Given the description of an element on the screen output the (x, y) to click on. 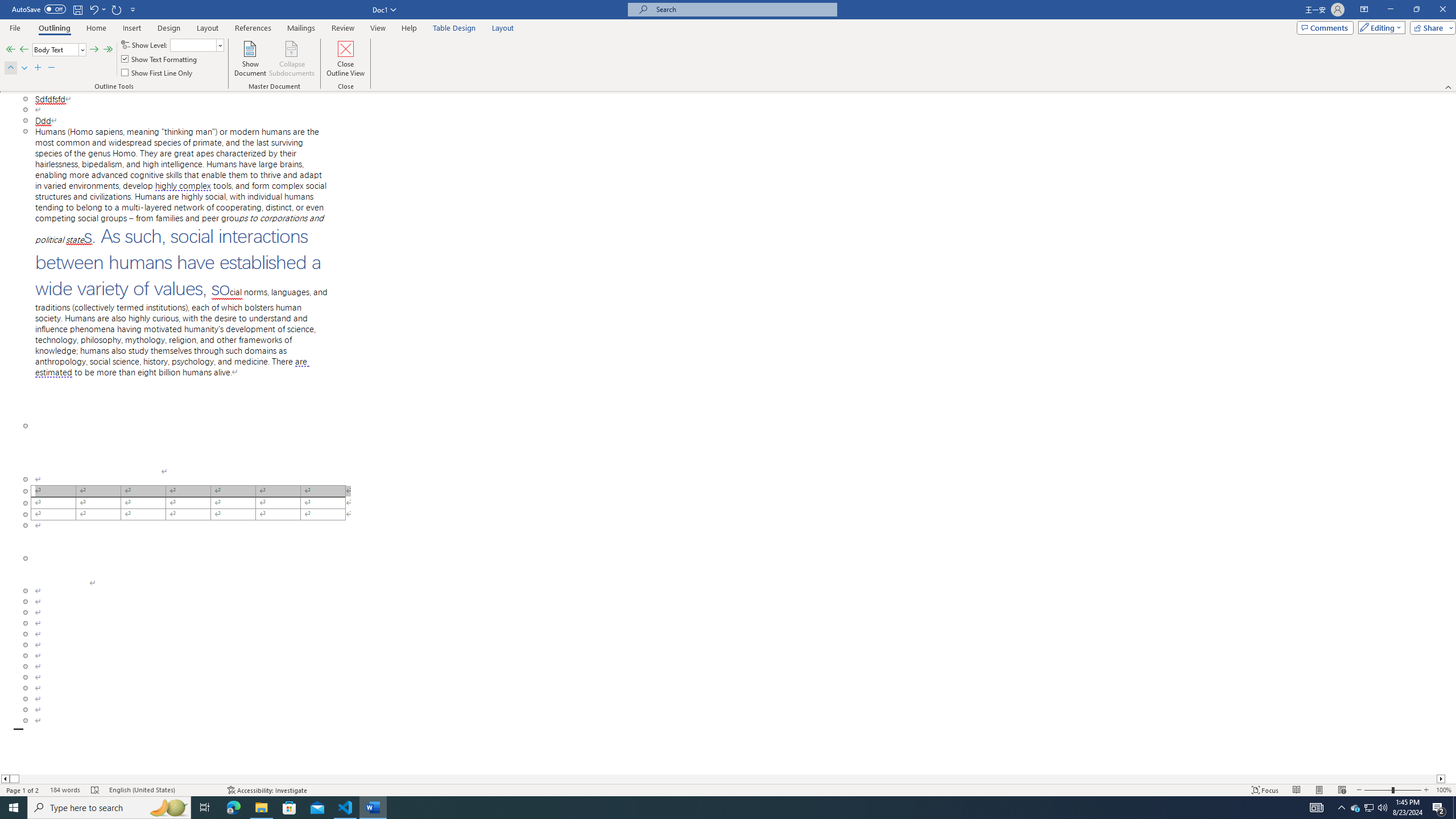
AutoSave (38, 9)
Close (1442, 9)
Save (77, 9)
Undo Outline Move Up (96, 9)
Show Level (197, 44)
System (6, 6)
Comments (1325, 27)
Print Layout (1318, 790)
Collapse the Ribbon (1448, 86)
Customize Quick Access Toolbar (133, 9)
Focus  (1265, 790)
System (6, 6)
Language English (United States) (162, 790)
View (377, 28)
